Given the description of an element on the screen output the (x, y) to click on. 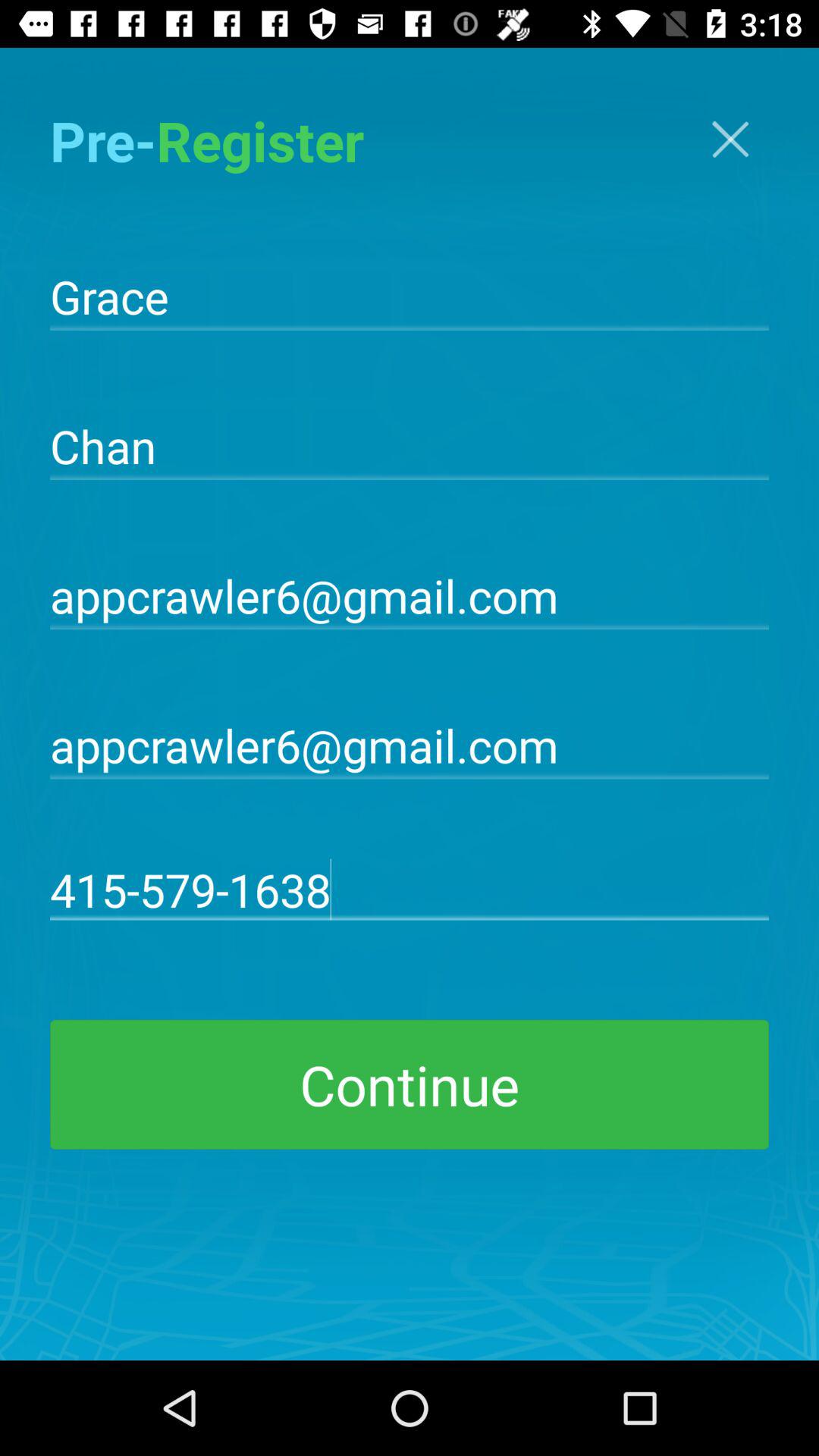
select icon to the right of the pre-register (730, 139)
